Given the description of an element on the screen output the (x, y) to click on. 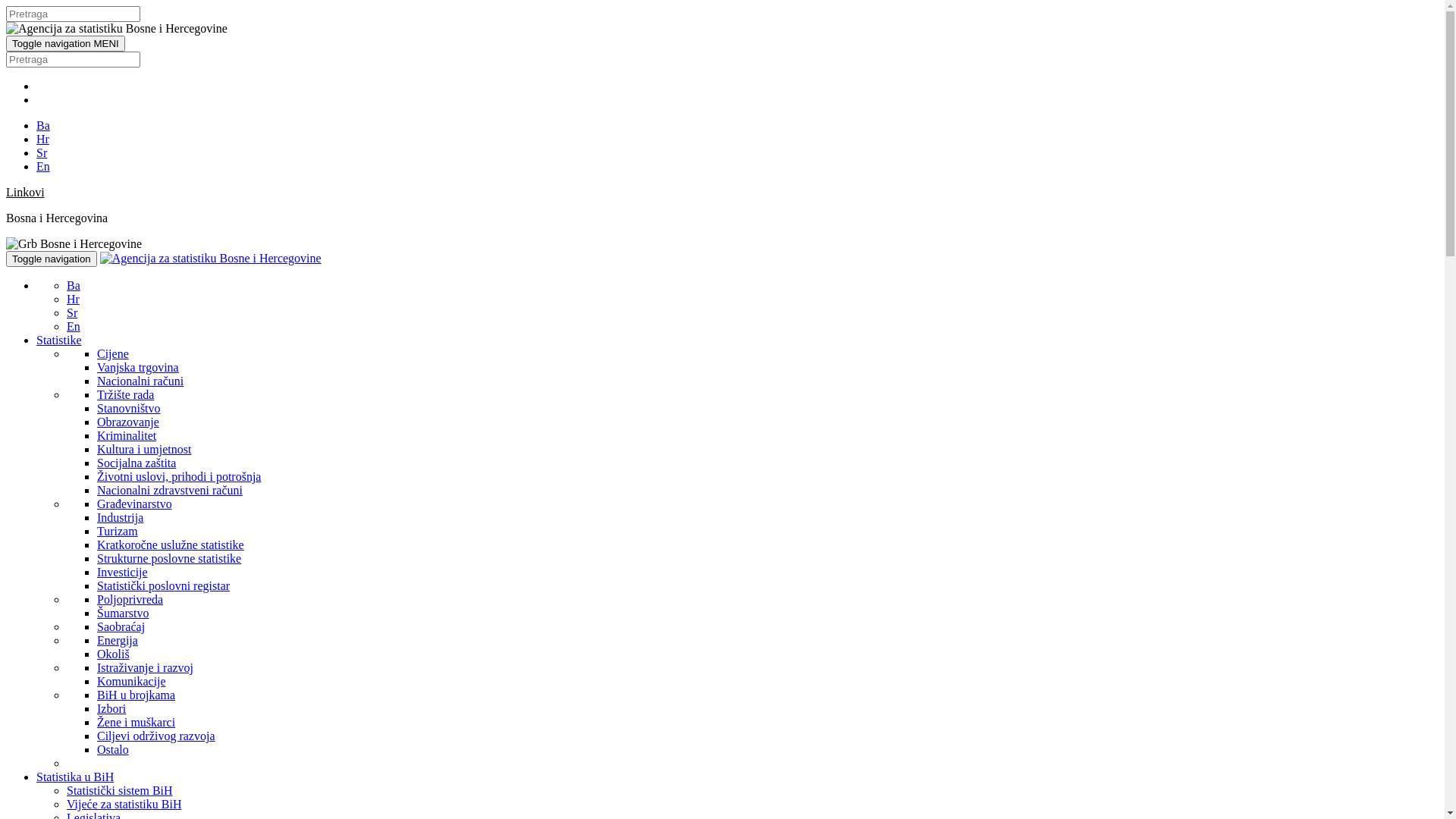
Komunikacije Element type: text (131, 680)
Kriminalitet Element type: text (126, 435)
Statistika u BiH Element type: text (74, 776)
Ostalo Element type: text (112, 749)
Statistike Element type: text (58, 339)
Kultura i umjetnost Element type: text (144, 448)
Vanjska trgovina Element type: text (137, 366)
Poljoprivreda Element type: text (130, 599)
Ba Element type: text (43, 125)
Linkovi Element type: text (25, 191)
Industrija Element type: text (120, 517)
Hr Element type: text (42, 138)
Energija Element type: text (117, 639)
Cijene Element type: text (112, 353)
Investicije Element type: text (122, 571)
Hr Element type: text (72, 298)
Turizam Element type: text (117, 530)
Izbori Element type: text (111, 708)
Obrazovanje Element type: text (128, 421)
Sr Element type: text (71, 312)
En Element type: text (43, 166)
BiH u brojkama Element type: text (136, 694)
En Element type: text (73, 326)
Strukturne poslovne statistike Element type: text (169, 558)
Ba Element type: text (73, 285)
Sr Element type: text (41, 152)
Toggle navigation MENI Element type: text (65, 43)
Toggle navigation Element type: text (51, 258)
